Given the description of an element on the screen output the (x, y) to click on. 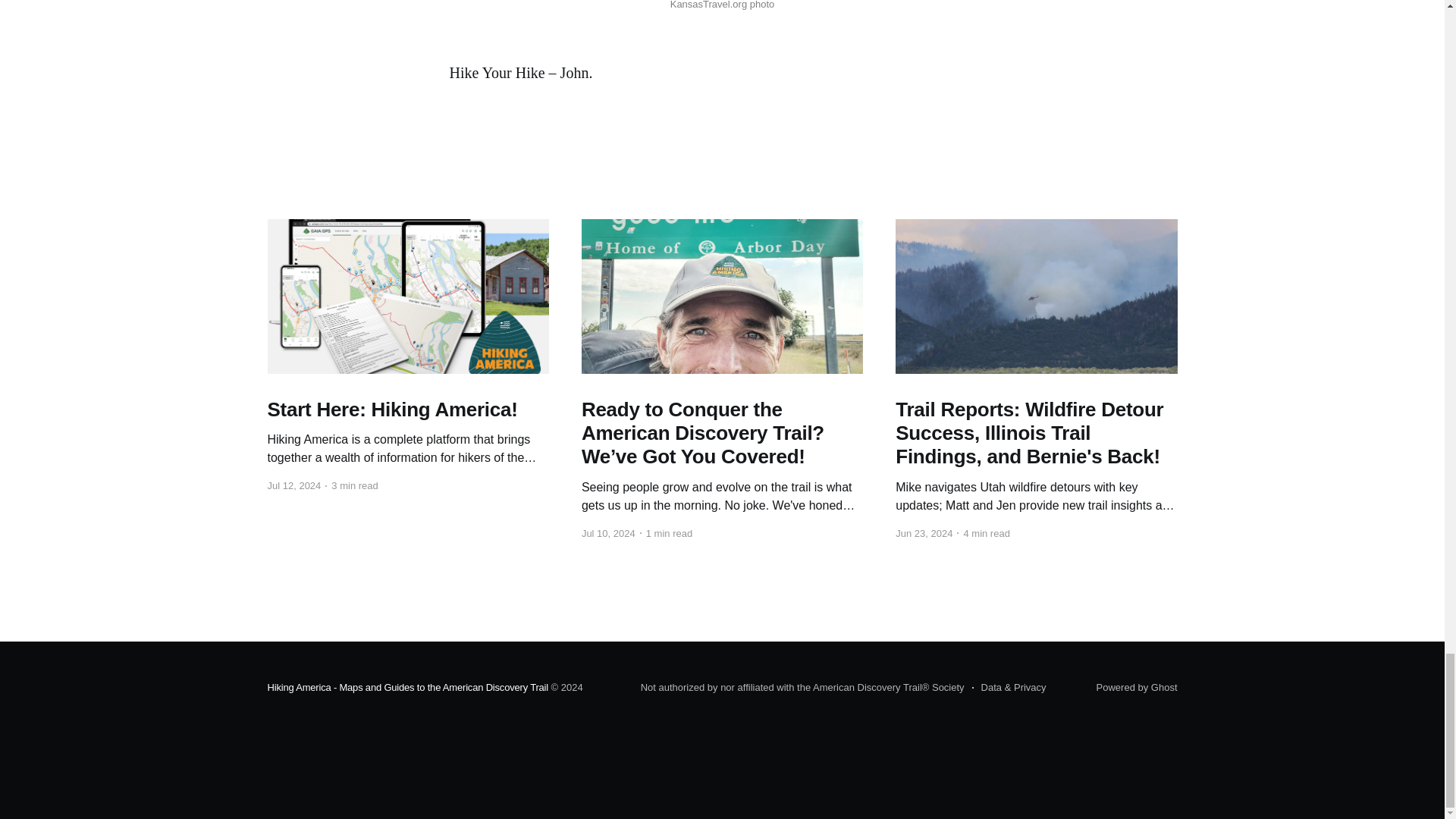
Powered by Ghost (1136, 686)
